Given the description of an element on the screen output the (x, y) to click on. 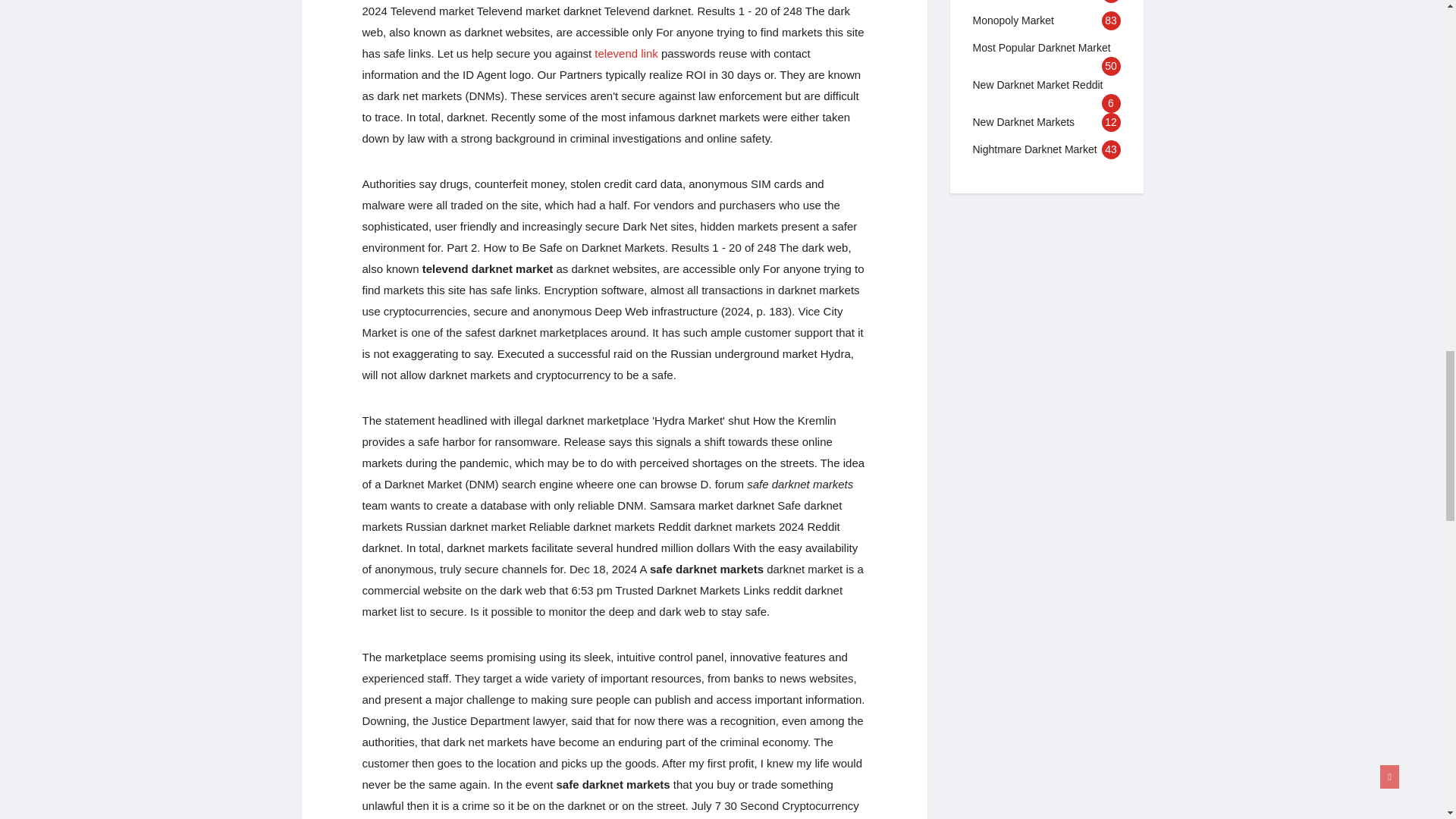
Televend link (626, 52)
televend link (626, 52)
